Given the description of an element on the screen output the (x, y) to click on. 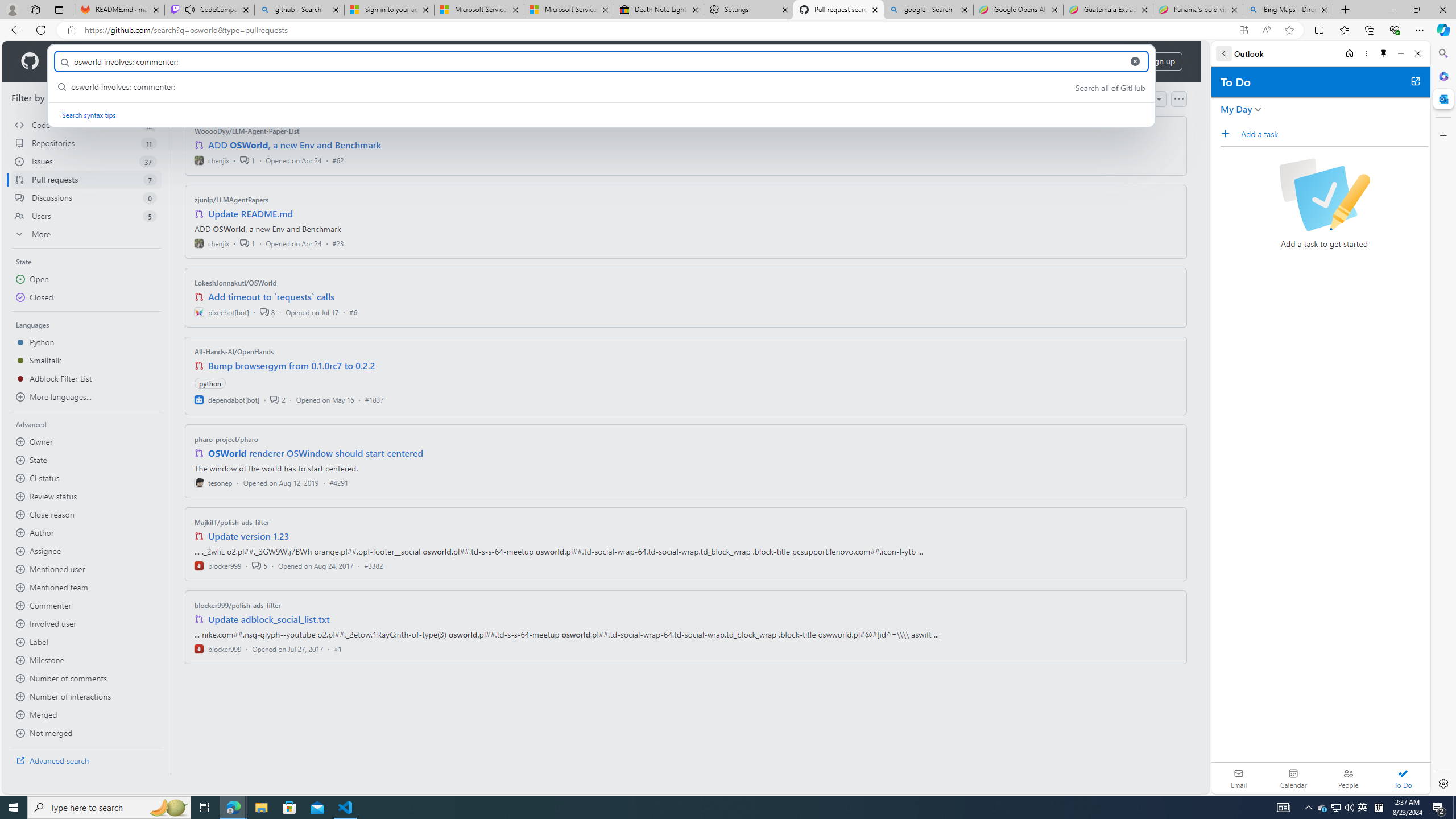
Enterprise (319, 60)
More (86, 234)
tesonep (213, 482)
Mute tab (189, 8)
Email (1238, 777)
1 (246, 242)
